Given the description of an element on the screen output the (x, y) to click on. 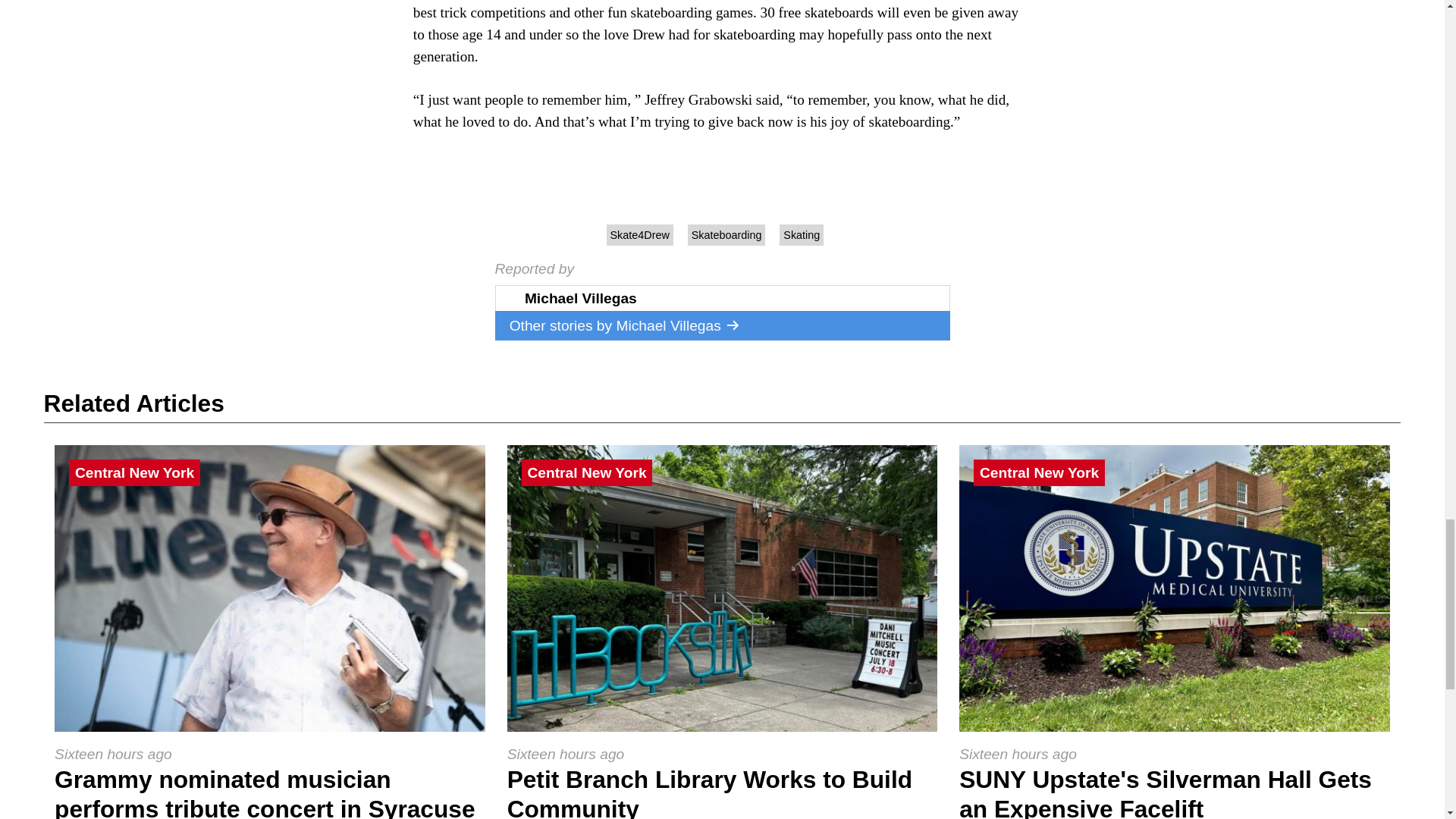
Petit Branch Library Works to Build Community (709, 792)
SUNY Upstate's Silverman Hall Gets an Expensive Facelift (1165, 792)
Skating (801, 234)
Skateboarding (726, 234)
Skate4Drew (639, 234)
Michael Villegas (677, 325)
